Given the description of an element on the screen output the (x, y) to click on. 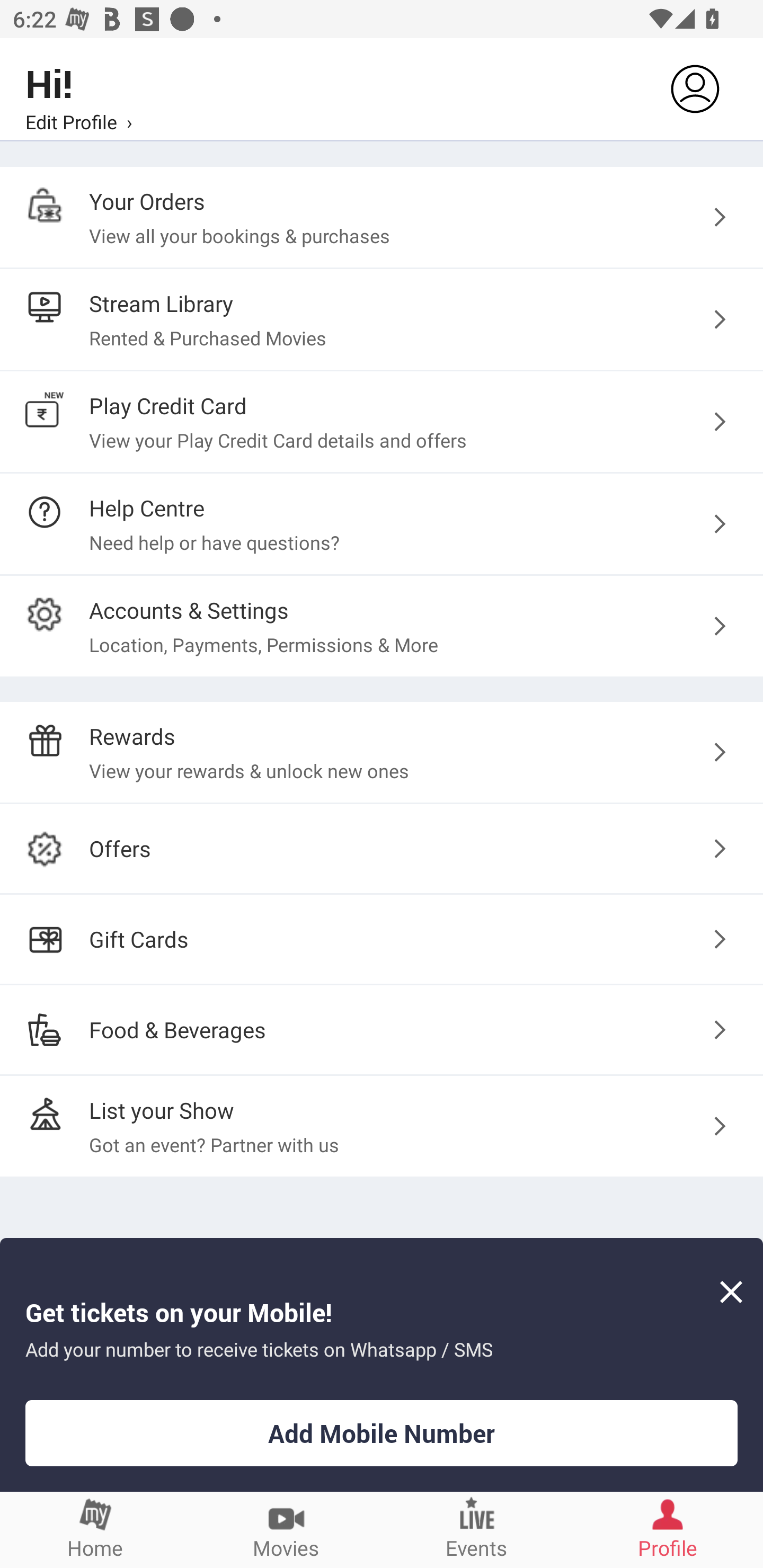
Edit Profile  › (78, 121)
Your Orders View all your bookings & purchases (381, 217)
Stream Library Rented & Purchased Movies (381, 319)
Help Centre Need help or have questions? (381, 523)
Rewards View your rewards & unlock new ones (381, 752)
Offers (381, 848)
Gift Cards (381, 939)
Food & Beverages (381, 1029)
List your Show Got an event? Partner with us (381, 1125)
Add Mobile Number (381, 1432)
Home (95, 1529)
Movies (285, 1529)
Events (476, 1529)
Profile (667, 1529)
